Given the description of an element on the screen output the (x, y) to click on. 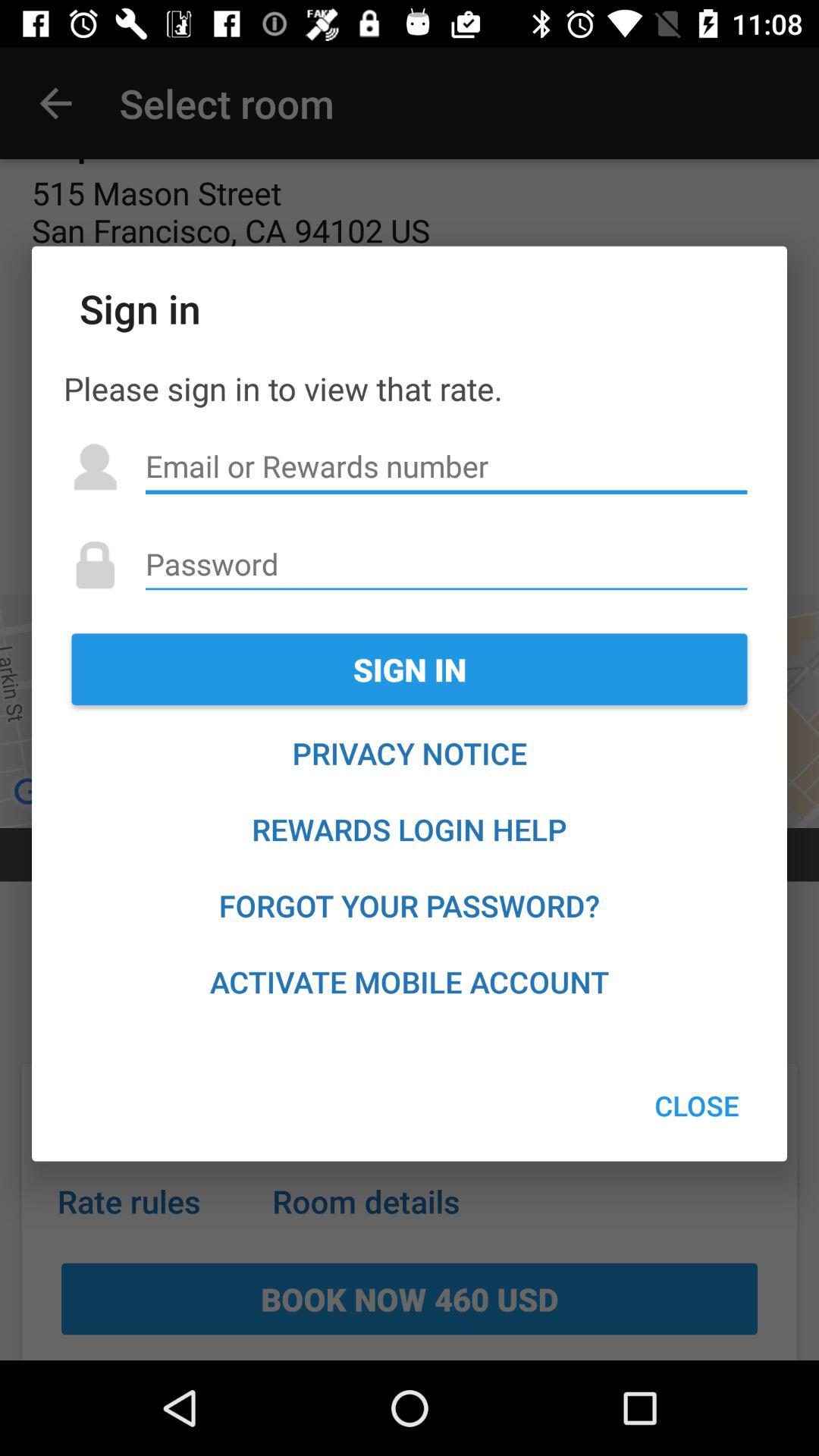
scroll to the rewards login help icon (409, 829)
